Given the description of an element on the screen output the (x, y) to click on. 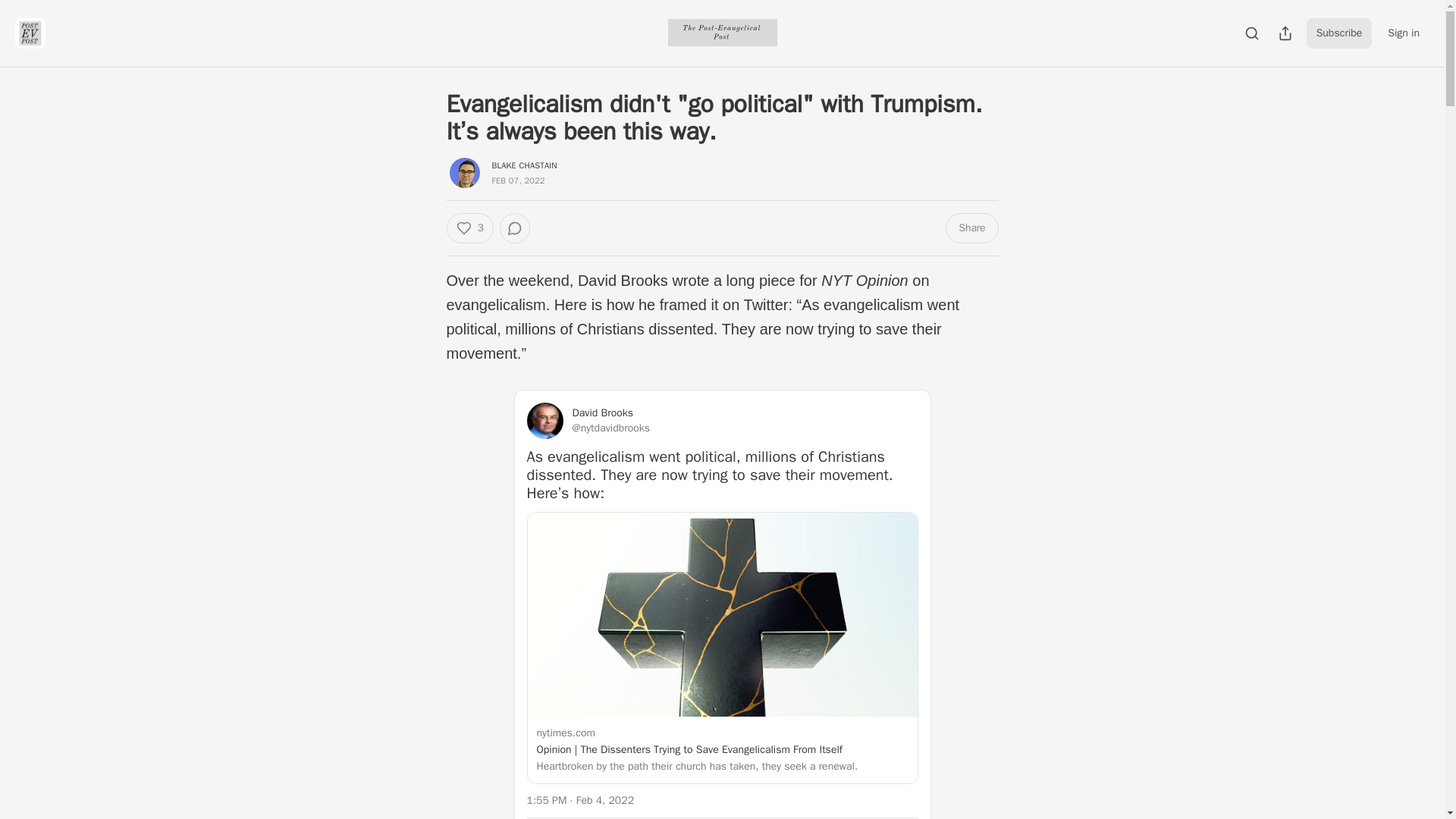
3 (469, 227)
Sign in (1403, 33)
Share (970, 227)
Subscribe (1339, 33)
BLAKE CHASTAIN (524, 164)
